Given the description of an element on the screen output the (x, y) to click on. 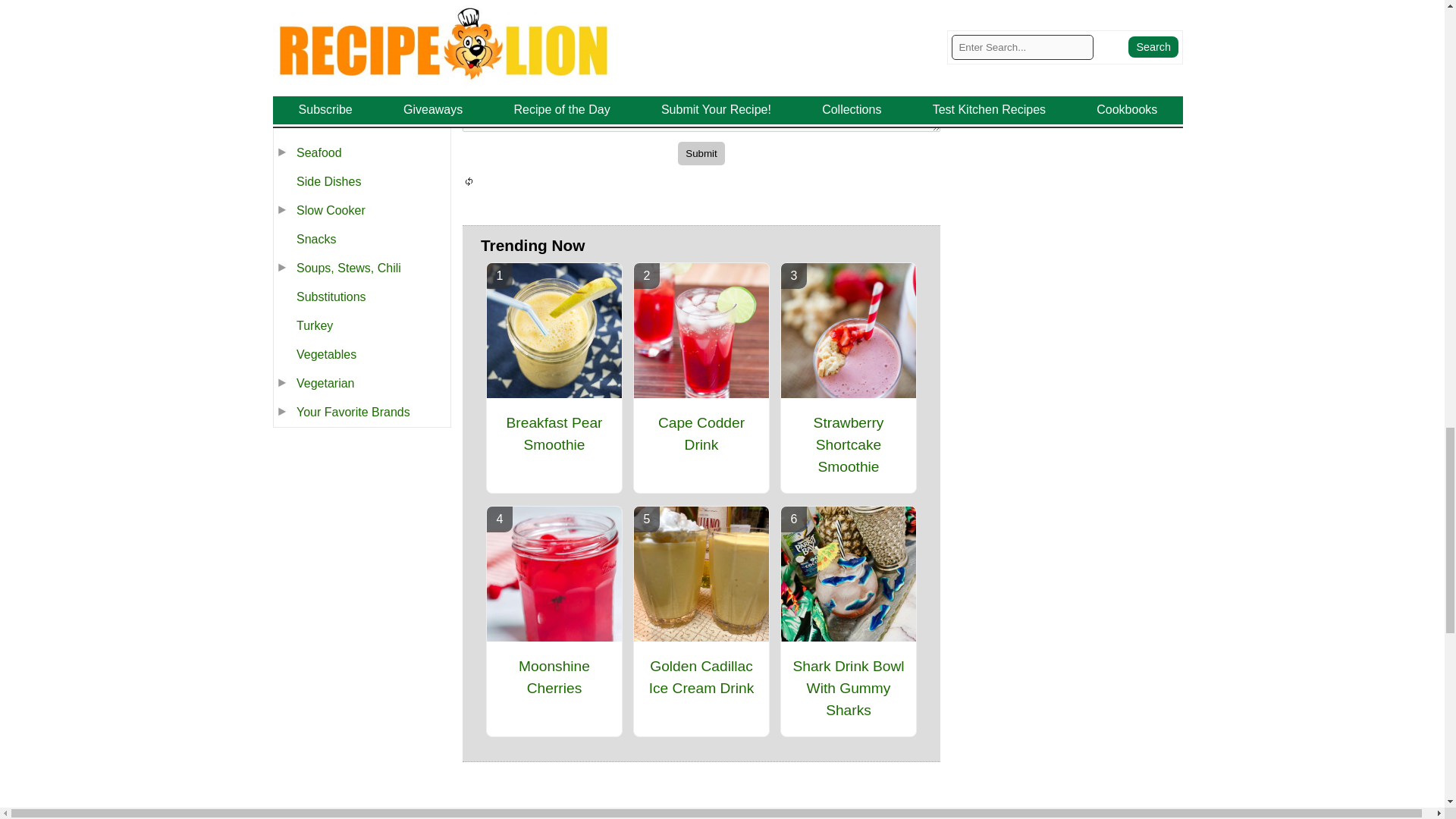
Submit (700, 153)
1 (470, 37)
